Given the description of an element on the screen output the (x, y) to click on. 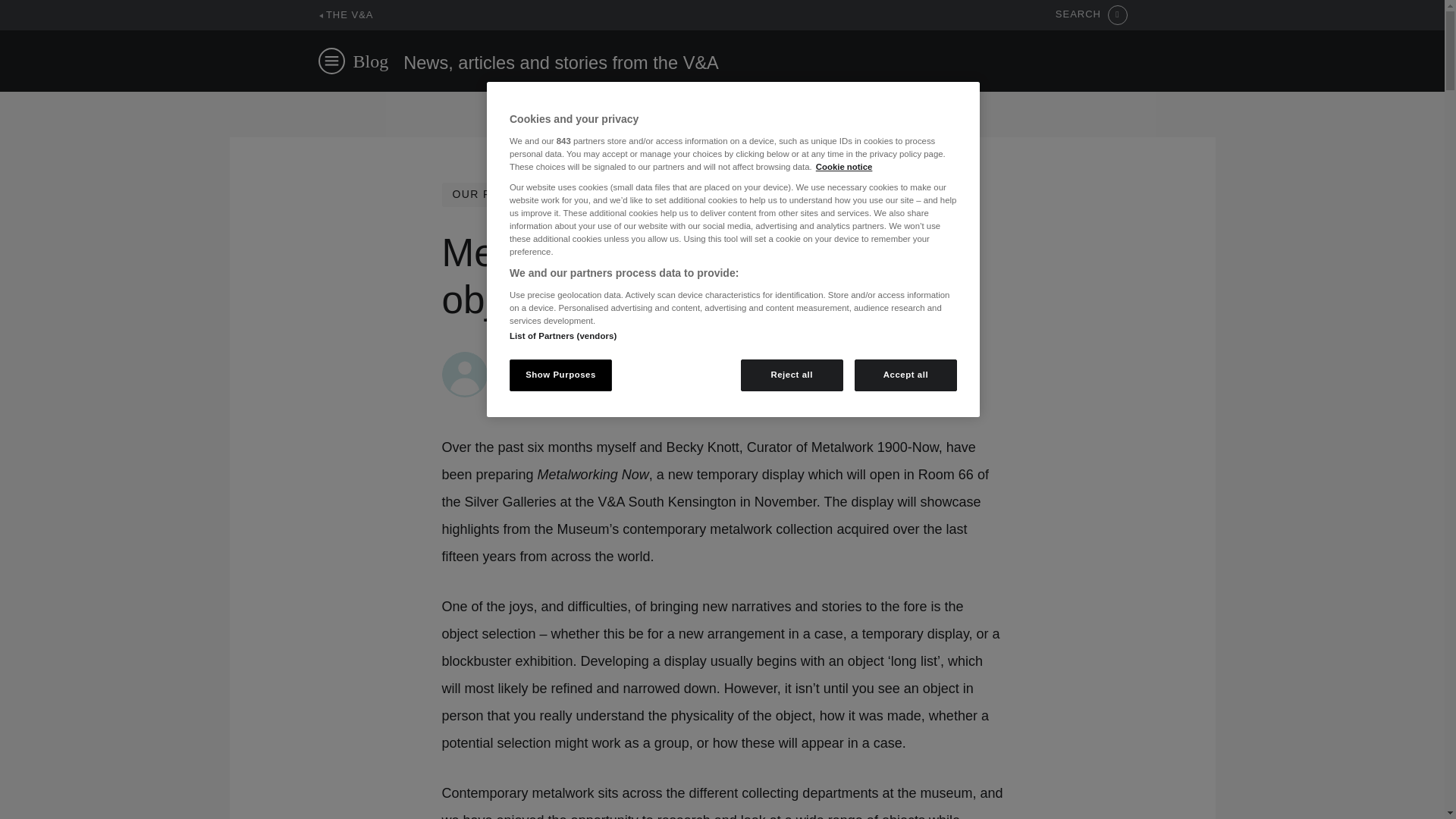
Blog (370, 60)
Posts by Clementine Loustric (550, 359)
Clementine Loustric (550, 359)
OUR PROJECTS (499, 194)
SEARCH (1090, 15)
